Given the description of an element on the screen output the (x, y) to click on. 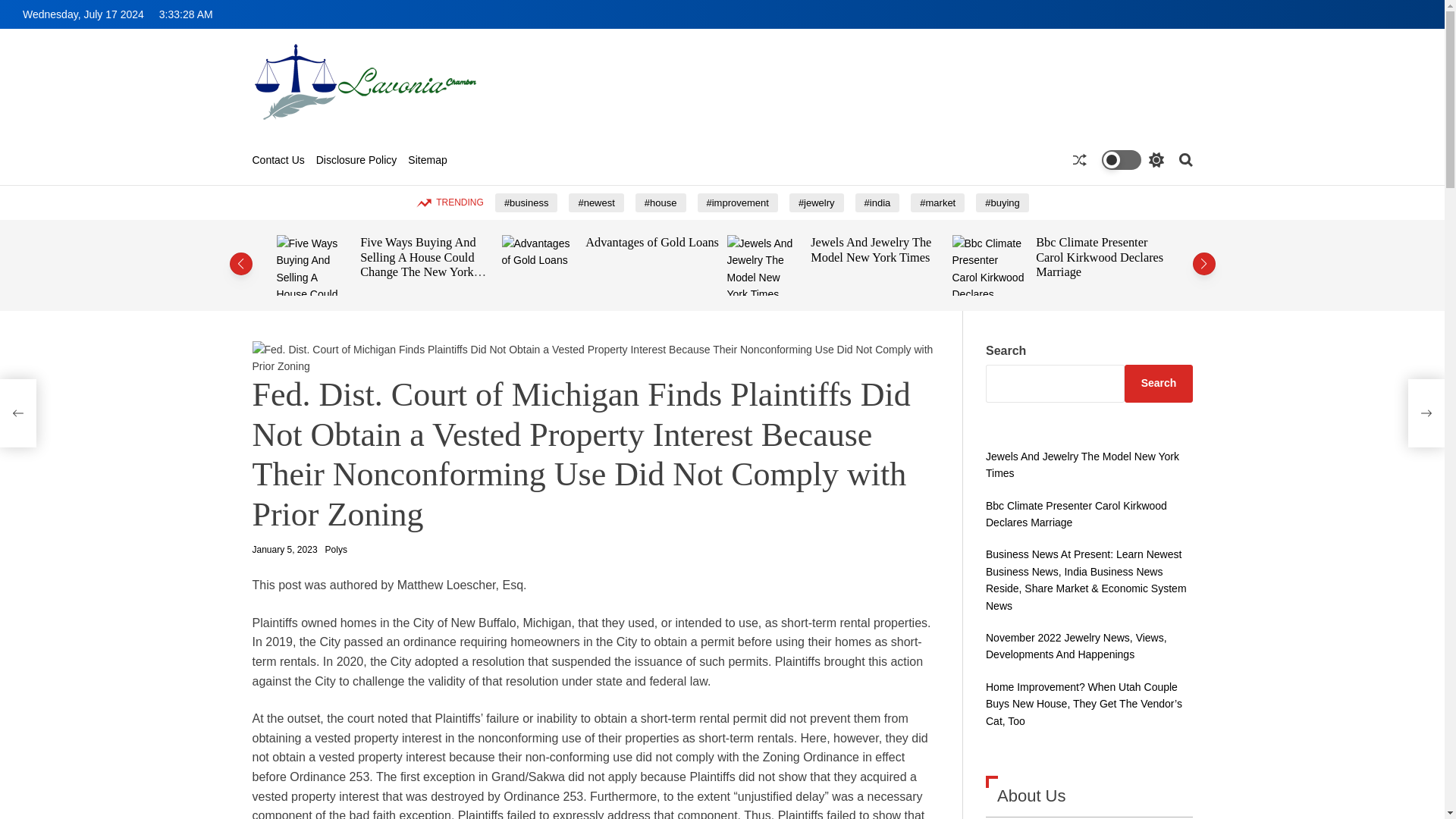
Search (1184, 160)
Advantages of Gold Loans (652, 242)
Switch color mode (1131, 159)
Disclosure Policy (356, 160)
Sitemap (426, 160)
Polys (335, 549)
Jewels And Jewelry The Model New York Times (870, 249)
January 5, 2023 (284, 549)
Bbc Climate Presenter Carol Kirkwood Declares Marriage (1099, 257)
Contact Us (277, 160)
